Given the description of an element on the screen output the (x, y) to click on. 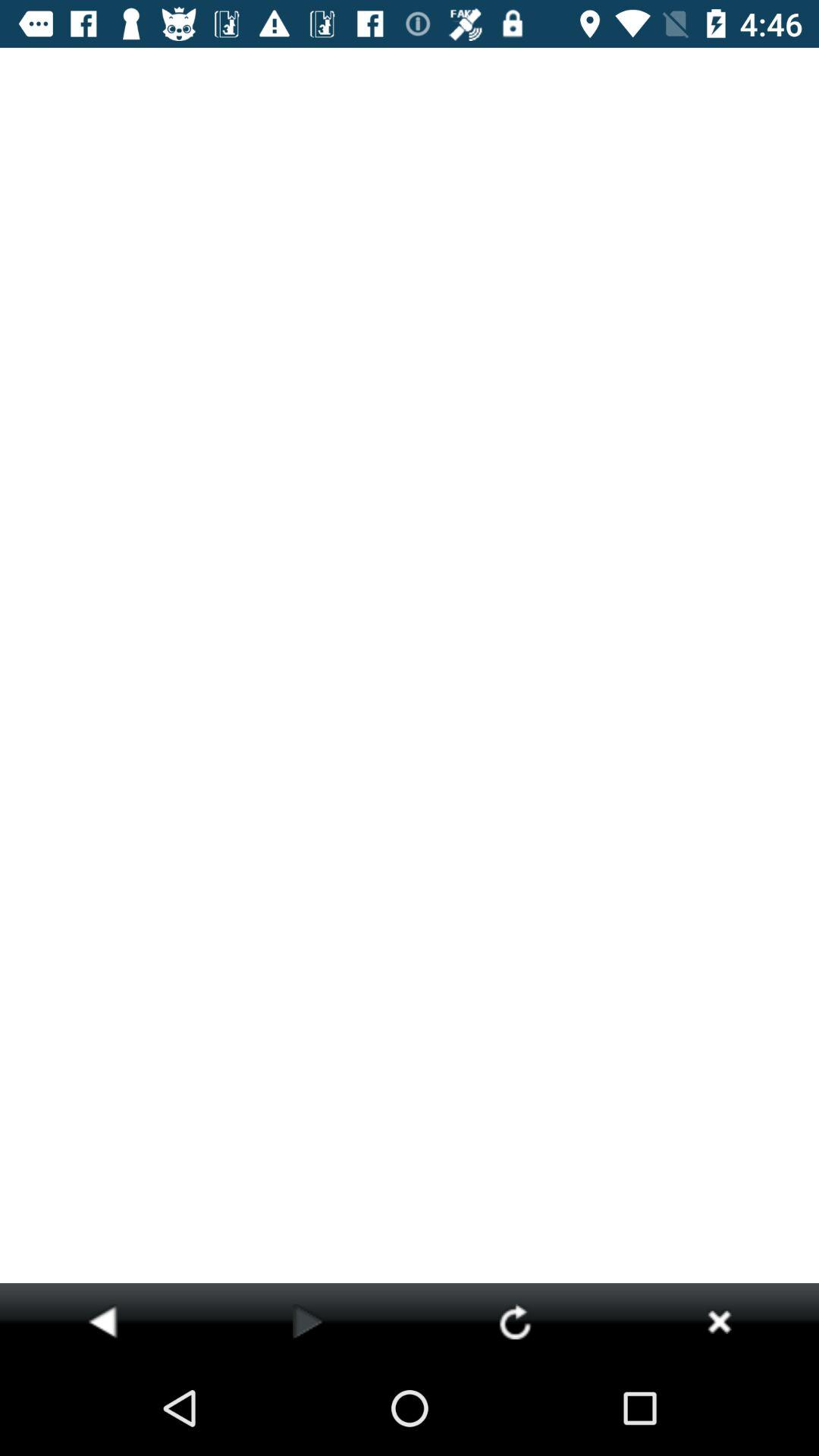
close application (719, 1321)
